Given the description of an element on the screen output the (x, y) to click on. 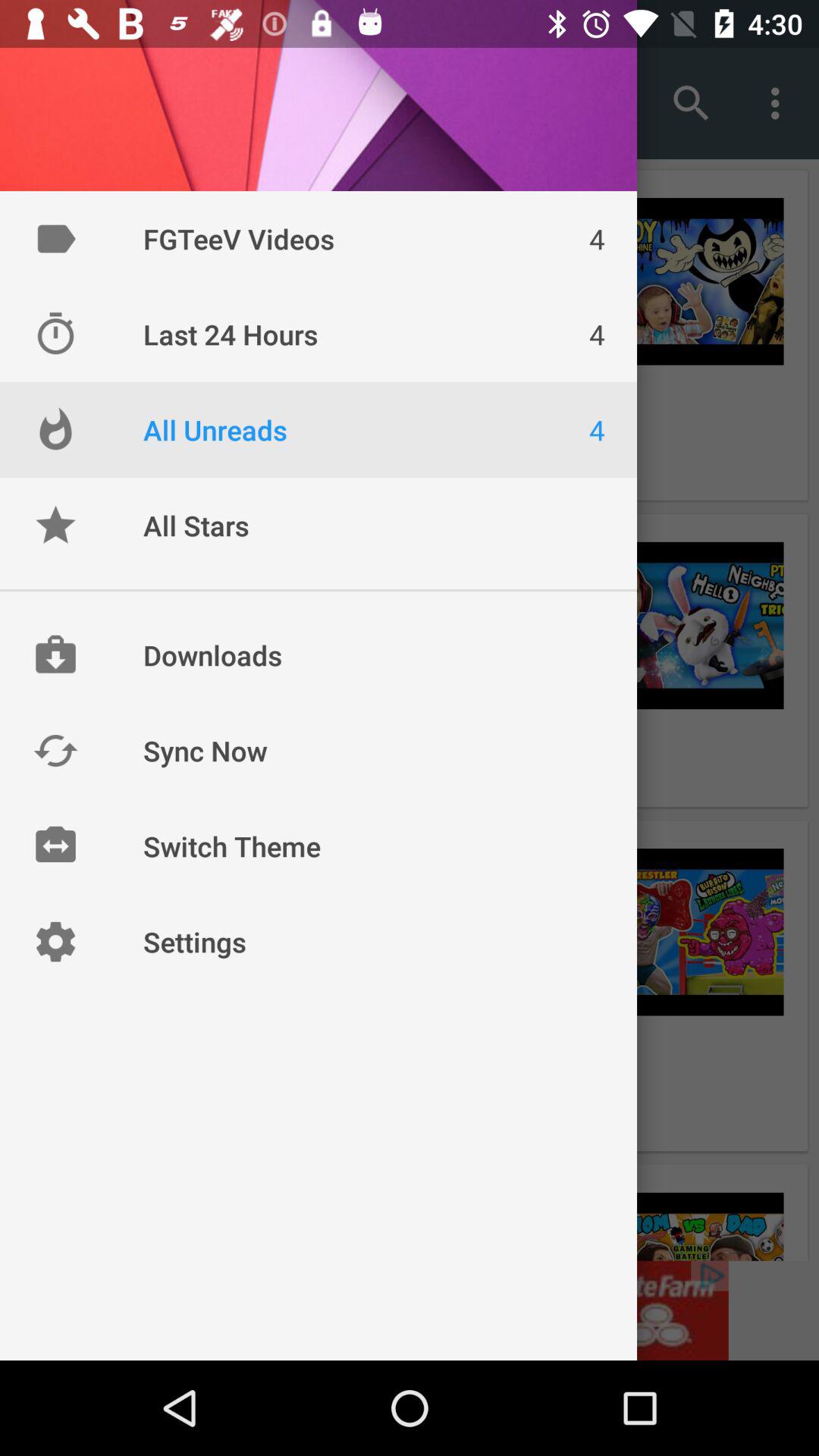
click on icon left to downloads (55, 655)
click to icon which is left to all unreads (55, 429)
select the symbol left to fgteev videos (55, 238)
select the clock icon beside last 24 hours option (55, 333)
